Given the description of an element on the screen output the (x, y) to click on. 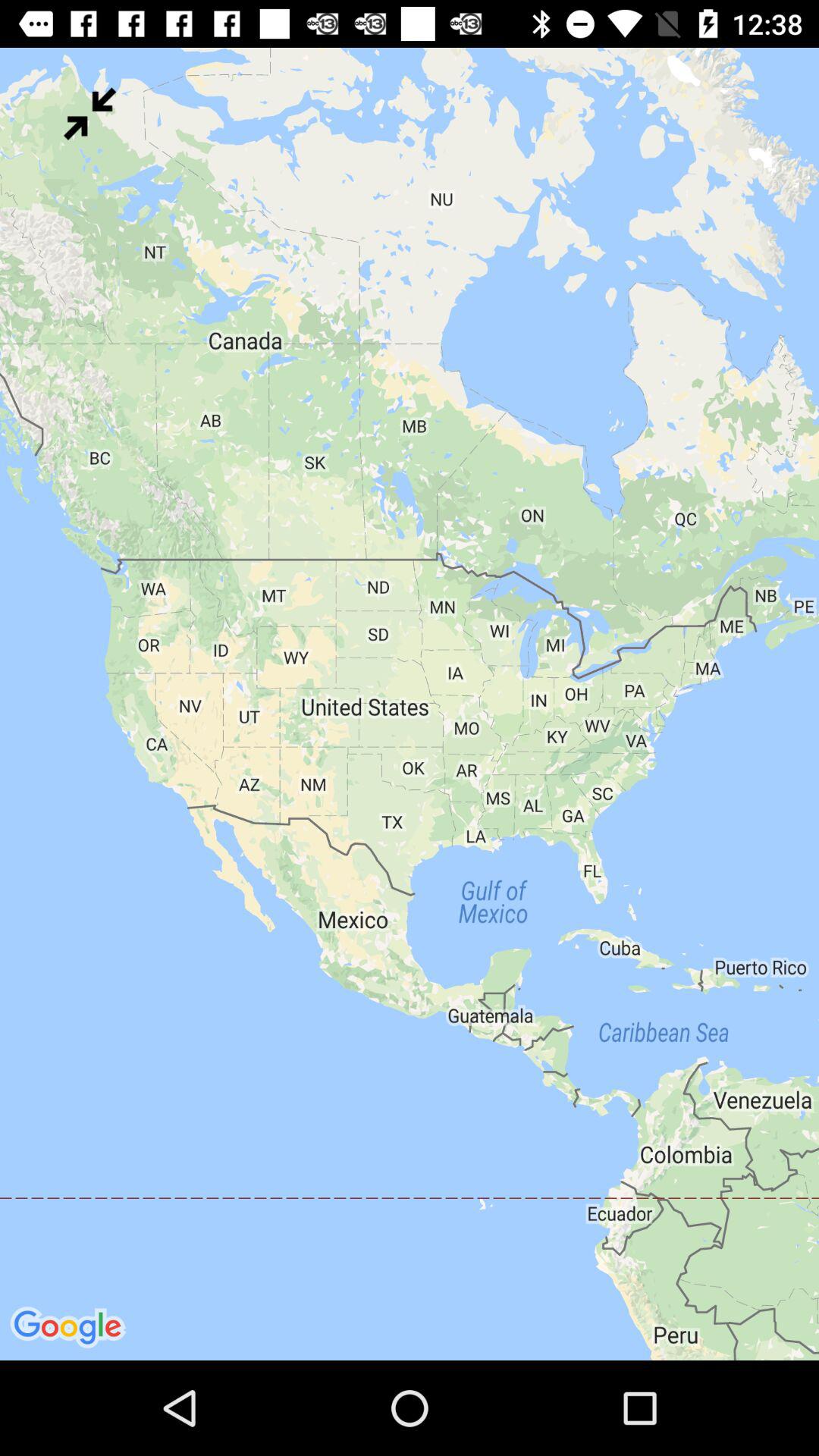
turn on icon at the center (409, 703)
